Given the description of an element on the screen output the (x, y) to click on. 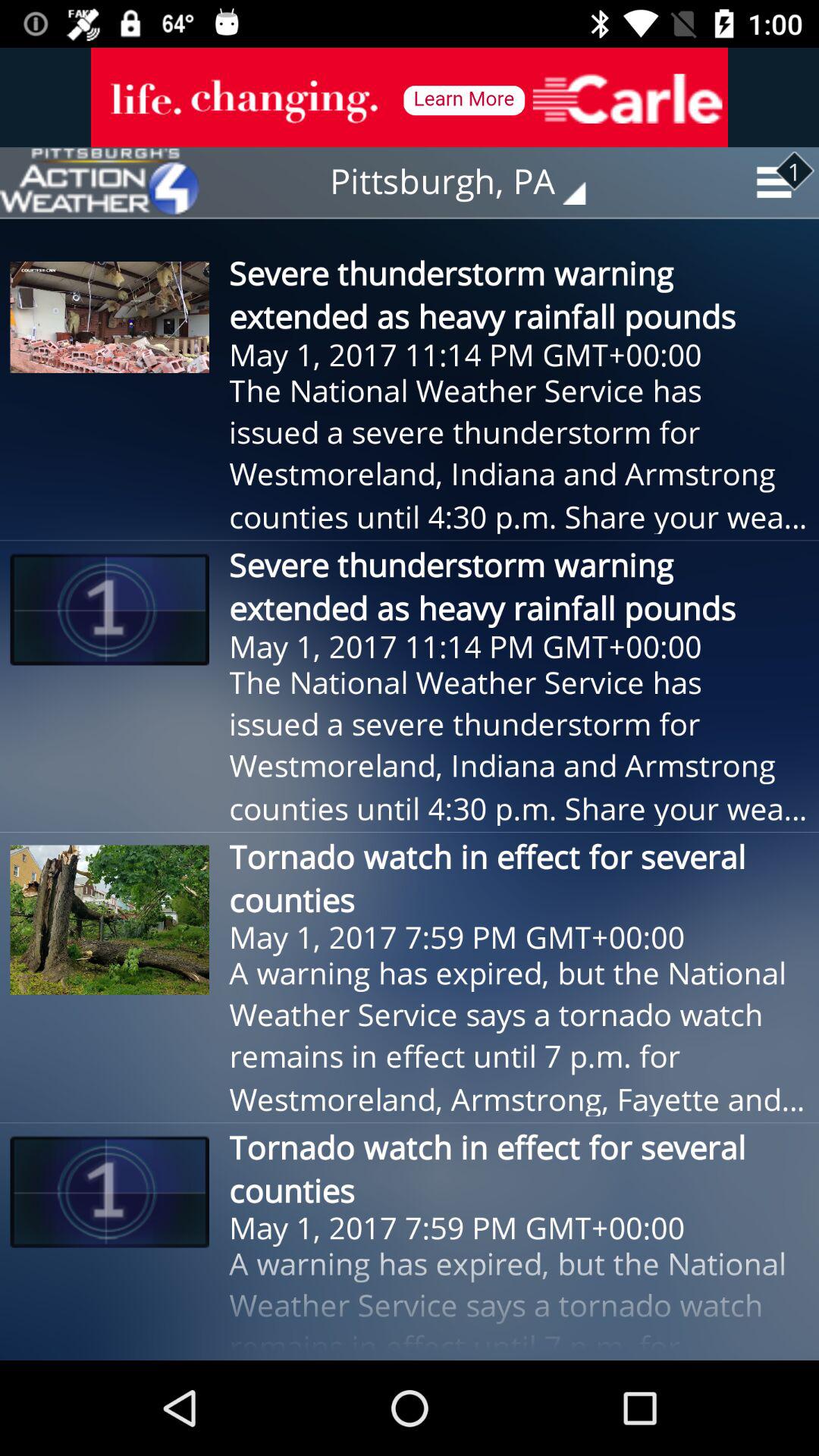
go to website (99, 182)
